Given the description of an element on the screen output the (x, y) to click on. 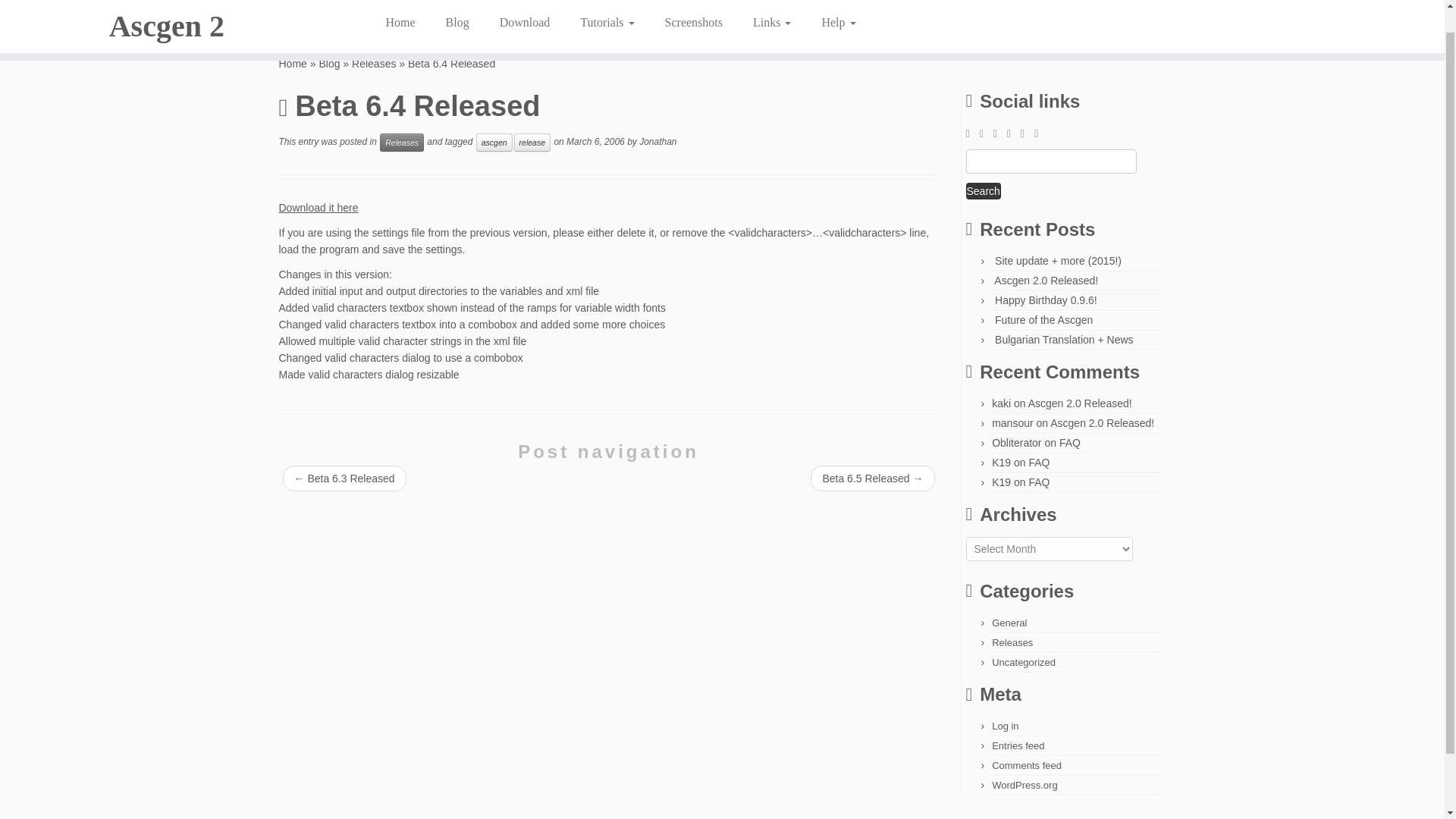
ascgen (494, 142)
8:45 pm (595, 141)
View all posts in release (531, 142)
Releases (374, 63)
Blog (457, 6)
Releases (401, 142)
View all posts in Releases (401, 142)
Home (405, 6)
Ascgen 2.0 Released! (1045, 280)
Links (772, 6)
